Given the description of an element on the screen output the (x, y) to click on. 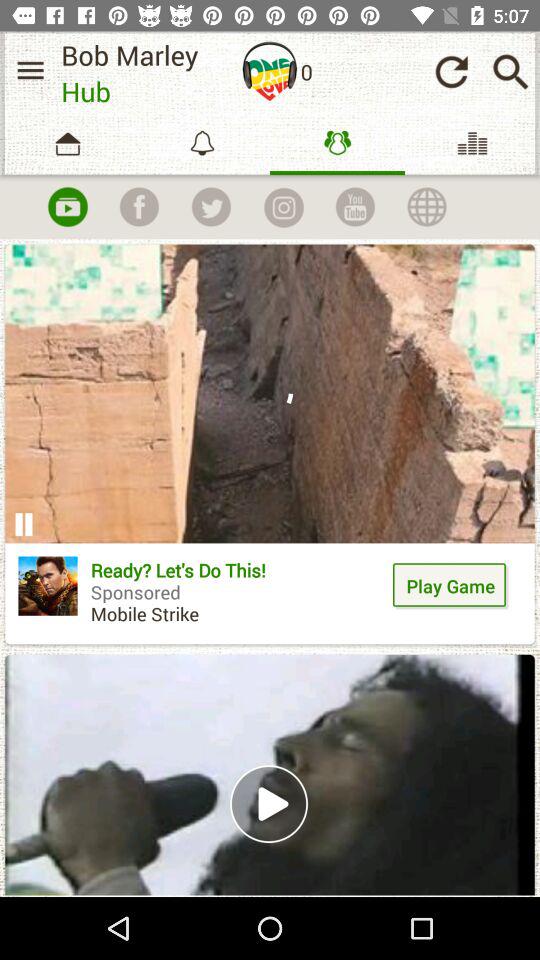
record (67, 207)
